Given the description of an element on the screen output the (x, y) to click on. 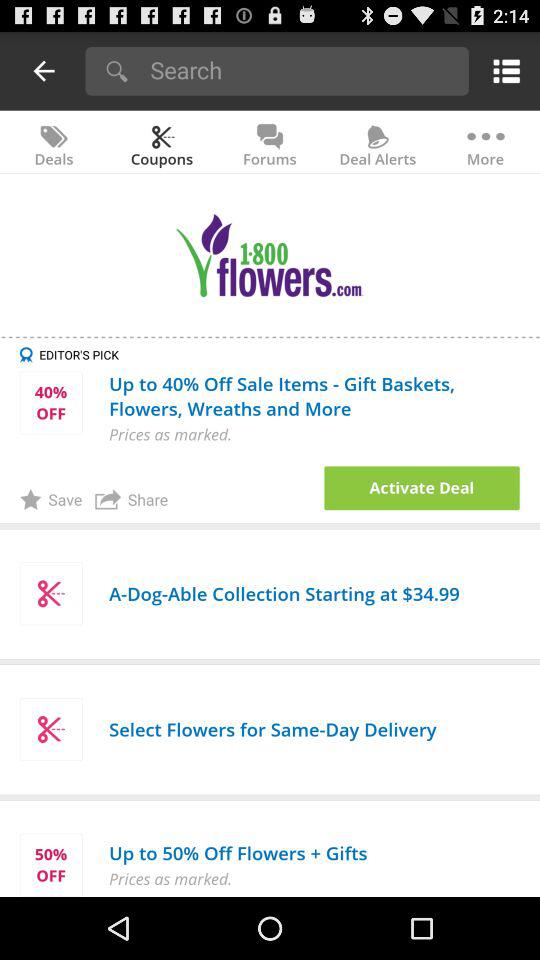
swipe to the select flowers for app (272, 728)
